Given the description of an element on the screen output the (x, y) to click on. 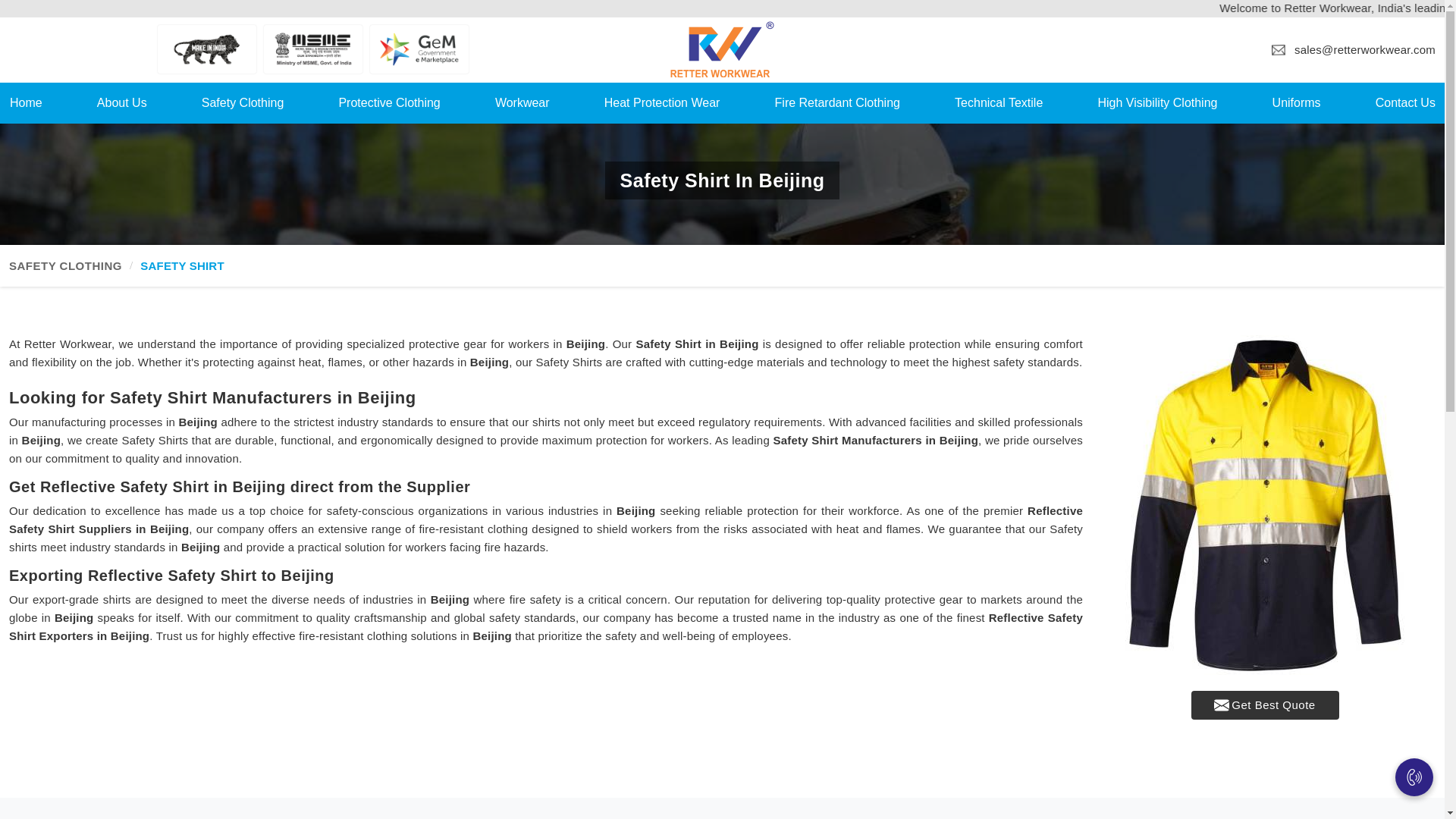
Workwear (522, 101)
Safety Clothing (242, 101)
Protective Clothing (389, 101)
Safety Clothing (242, 101)
MSME (312, 49)
Make In India (206, 49)
Home (25, 101)
Gem (419, 49)
About Us (122, 101)
Retter Workwear (721, 49)
About Us (122, 101)
Home (25, 101)
Retter Workwear (721, 49)
